Given the description of an element on the screen output the (x, y) to click on. 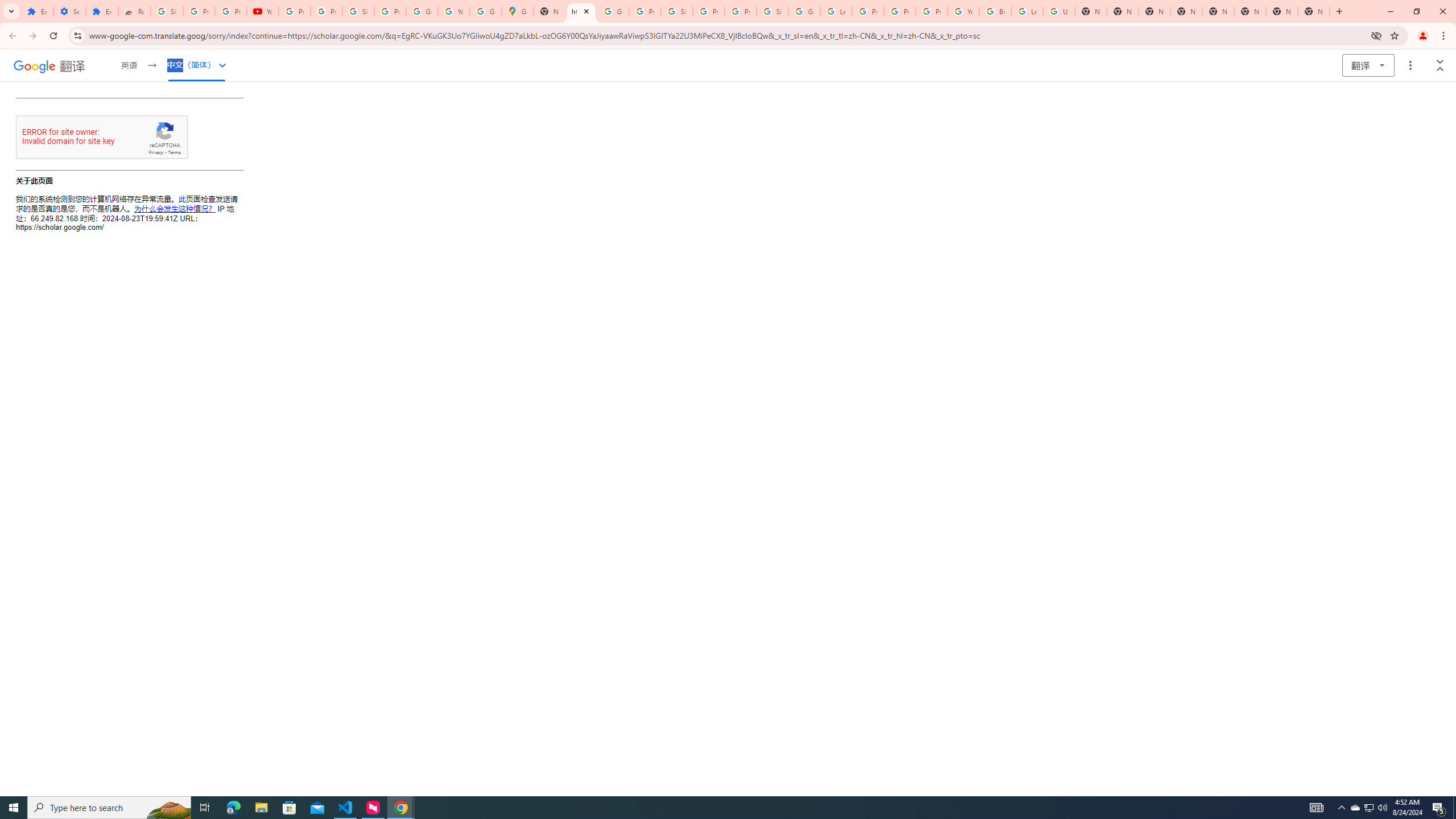
Sign in - Google Accounts (166, 11)
YouTube (963, 11)
Sign in - Google Accounts (772, 11)
Reviews: Helix Fruit Jump Arcade Game (134, 11)
